Given the description of an element on the screen output the (x, y) to click on. 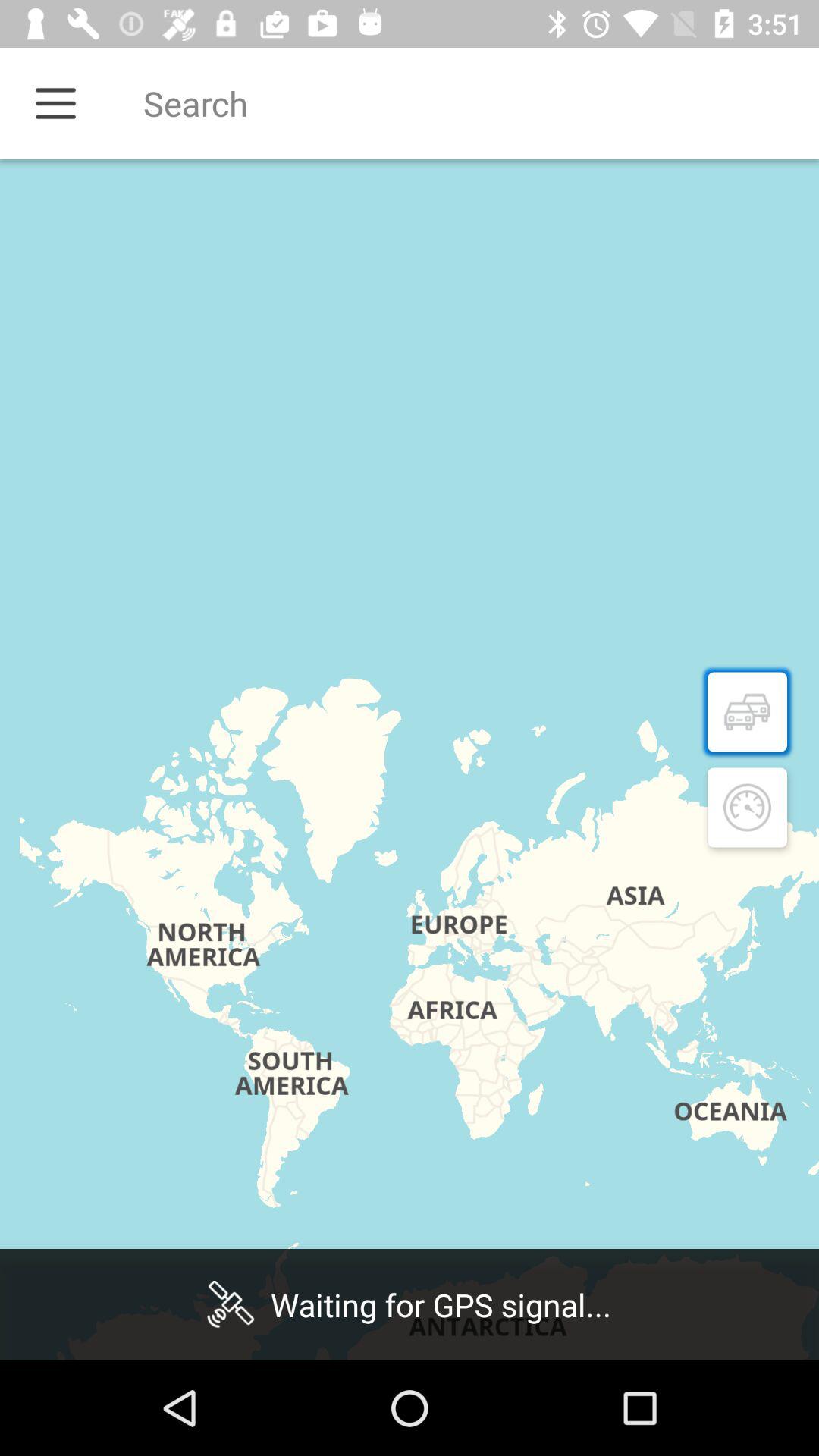
menu icon (55, 103)
